Given the description of an element on the screen output the (x, y) to click on. 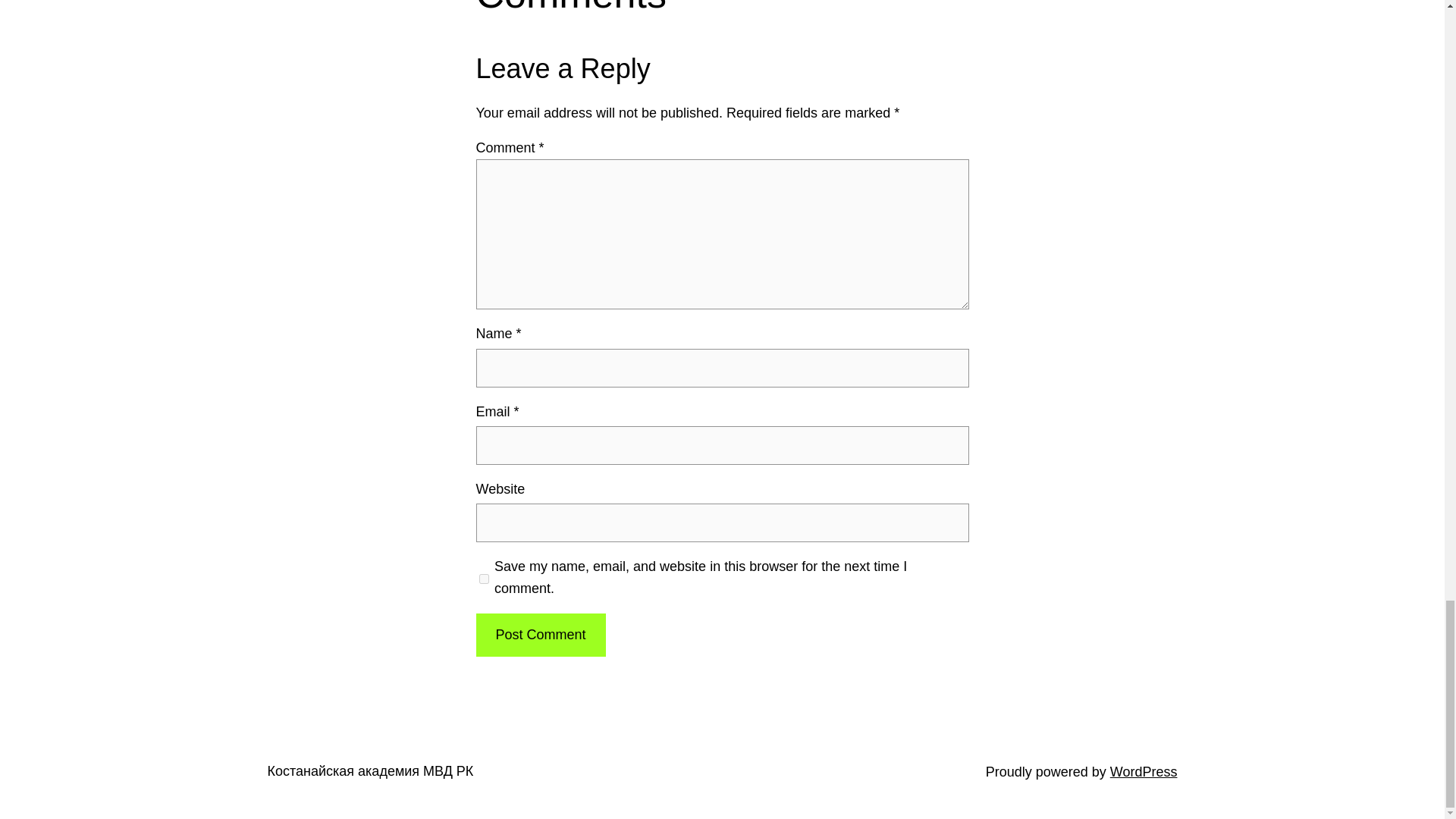
Post Comment (540, 634)
Post Comment (540, 634)
WordPress (1143, 770)
